Given the description of an element on the screen output the (x, y) to click on. 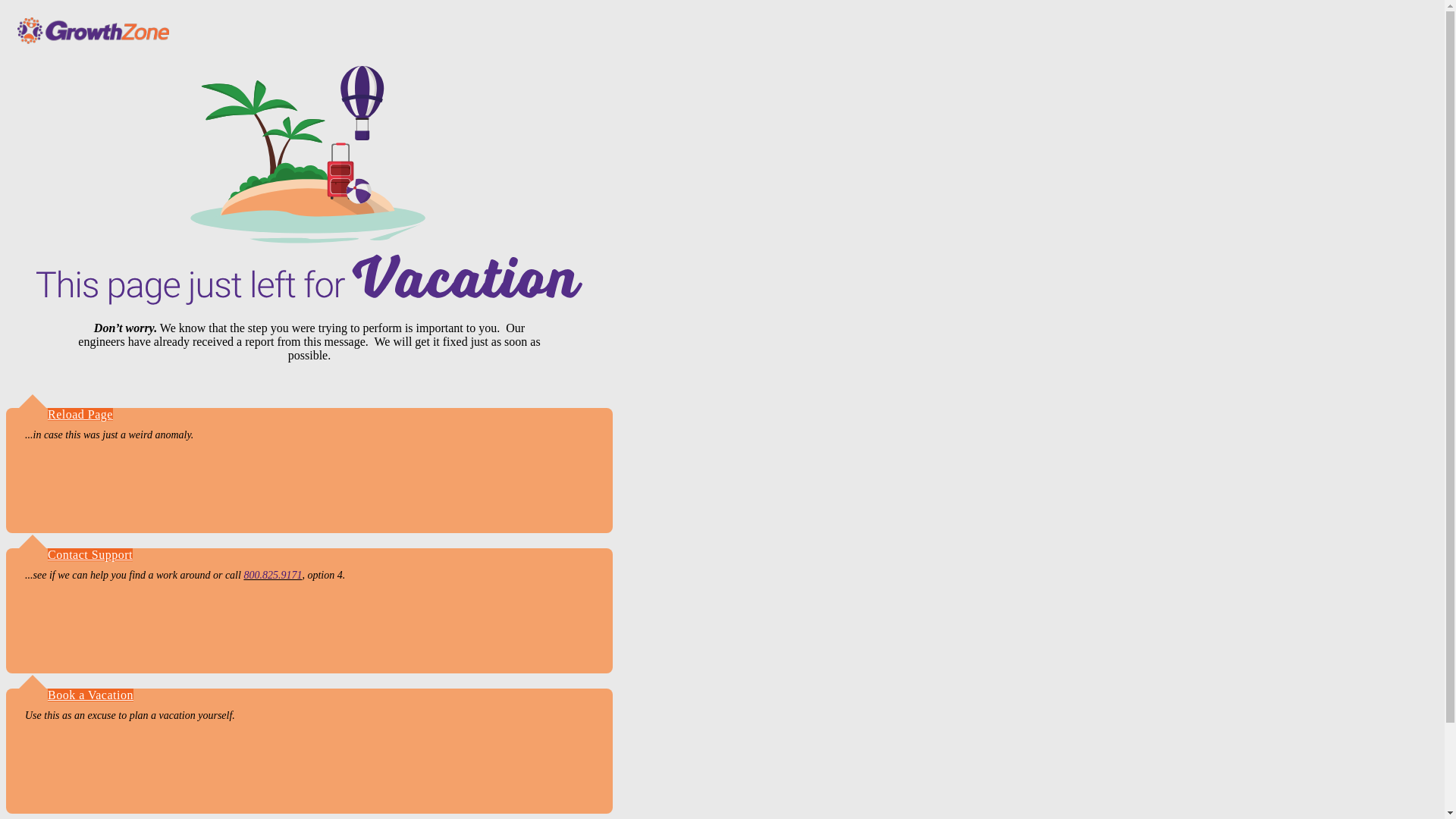
Contact Support (90, 554)
Book a Vacation (90, 694)
error-graphic (309, 186)
Reload Page (80, 413)
